Given the description of an element on the screen output the (x, y) to click on. 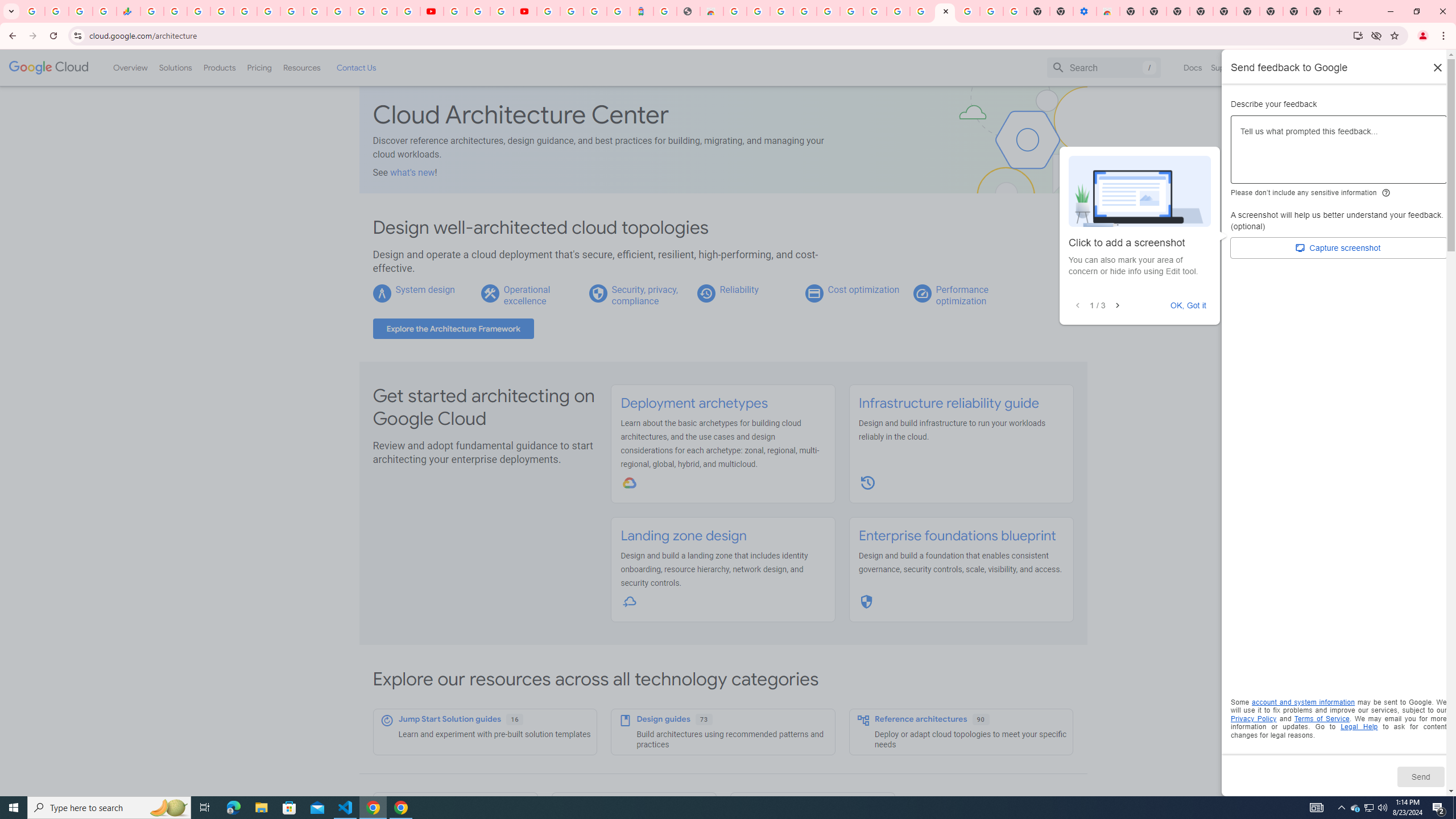
Enterprise foundations blueprint (956, 535)
Create your Google Account (501, 11)
Previous (1077, 305)
